Given the description of an element on the screen output the (x, y) to click on. 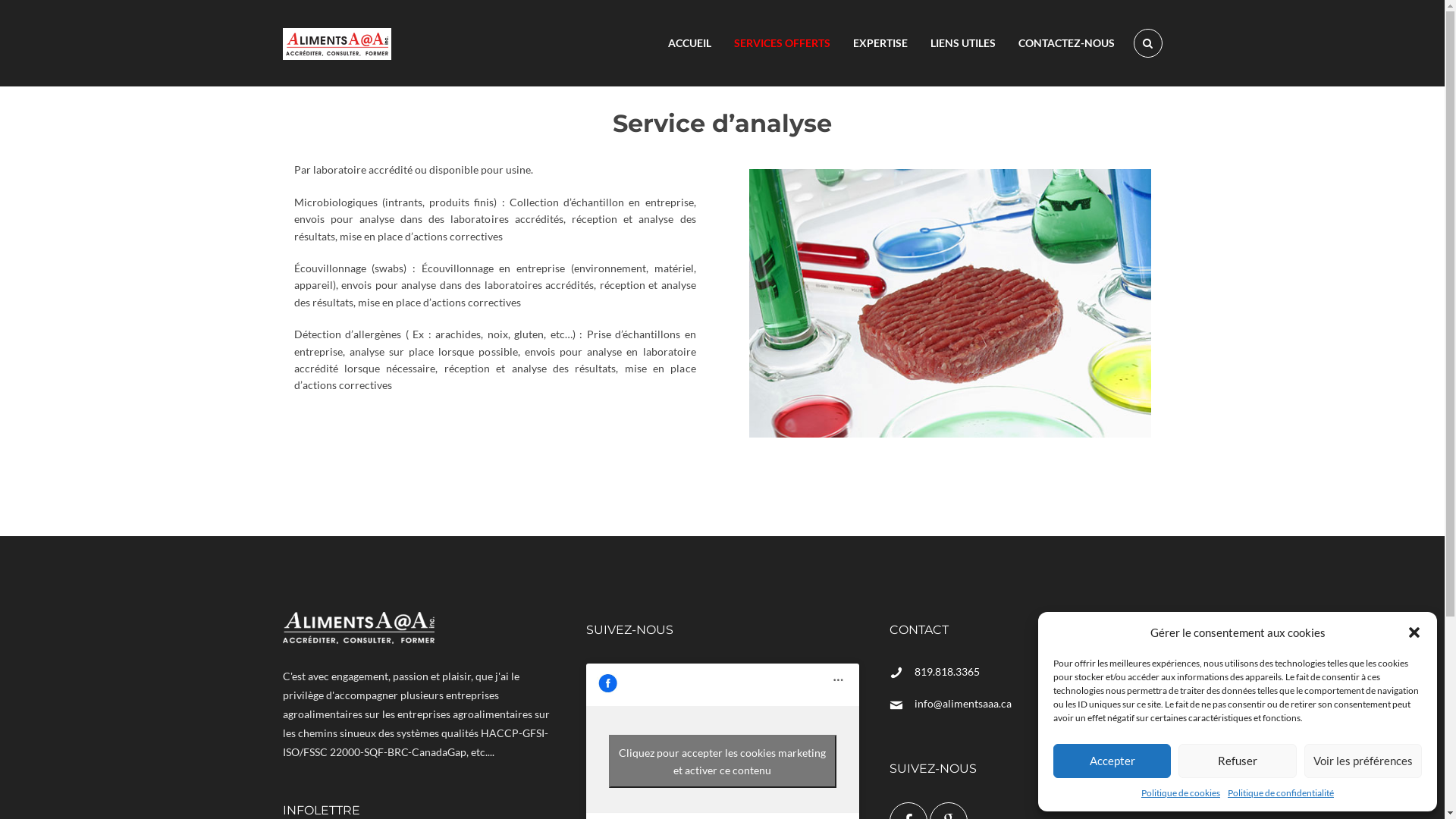
Accepter Element type: text (1111, 760)
CONTACTEZ-NOUS Element type: text (1066, 43)
LIENS UTILES Element type: text (963, 43)
Refuser Element type: text (1236, 760)
SERVICES OFFERTS Element type: text (780, 43)
Politique de cookies Element type: text (1180, 792)
EXPERTISE Element type: text (880, 43)
ACCUEIL Element type: text (689, 43)
